Given the description of an element on the screen output the (x, y) to click on. 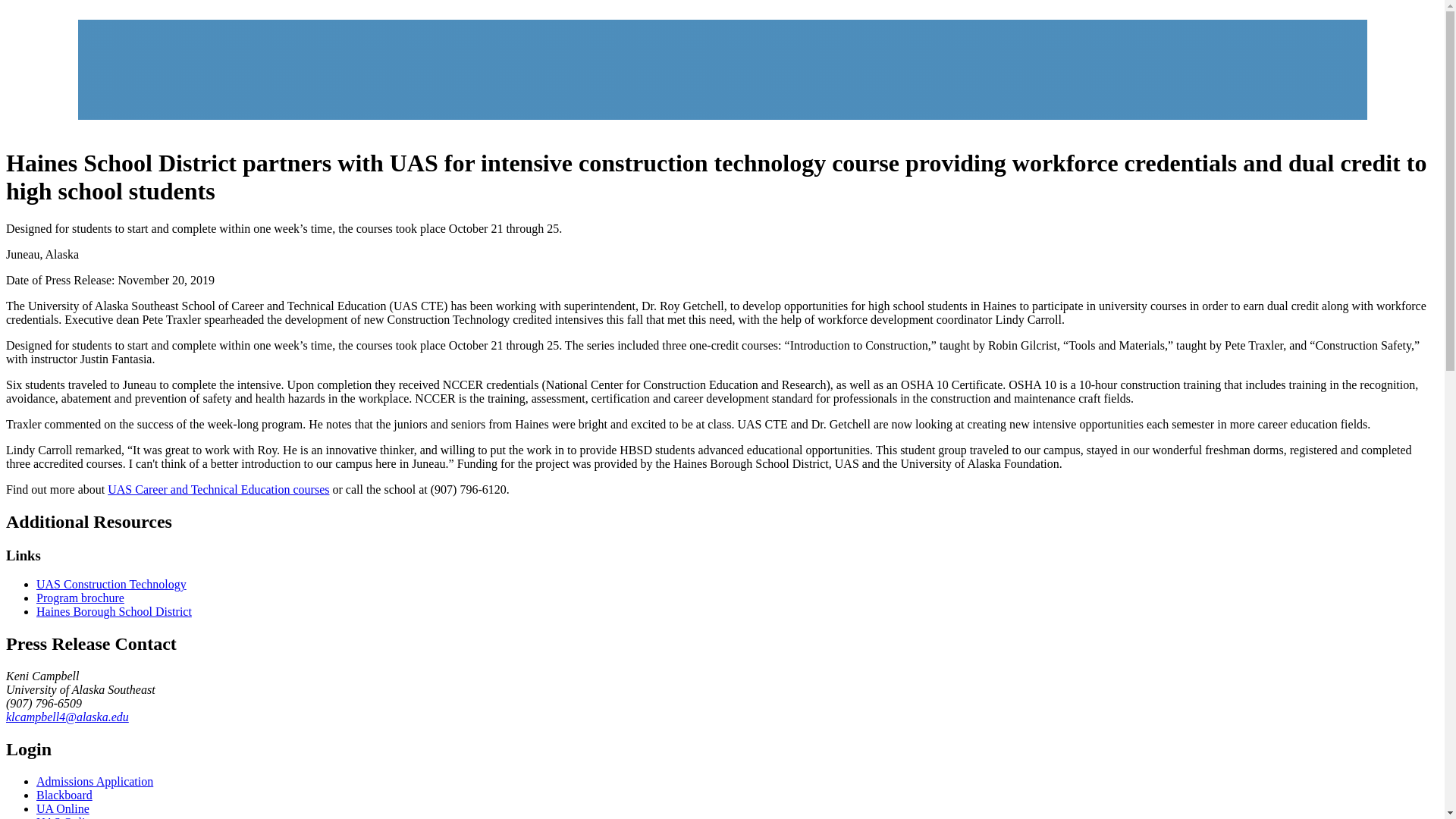
Program brochure (79, 597)
UAS Online (66, 817)
Skip to Main Content (61, 12)
UAS Career and Technical Education courses (218, 489)
Admissions Application (94, 780)
Haines Borough School District (114, 611)
UA Online (62, 808)
Blackboard (64, 794)
UAS Construction Technology (111, 584)
